Given the description of an element on the screen output the (x, y) to click on. 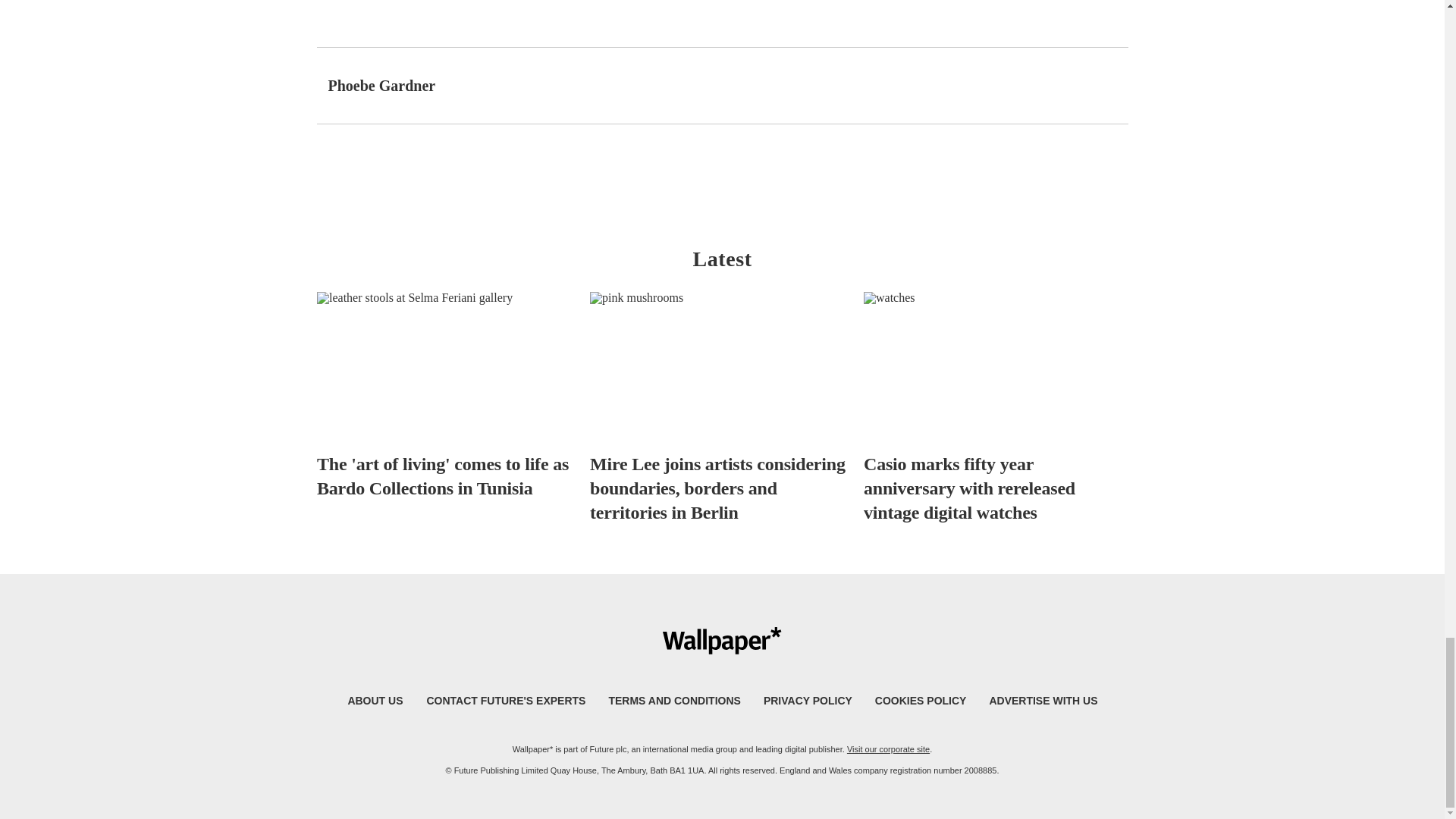
Phoebe Gardner (381, 85)
